Given the description of an element on the screen output the (x, y) to click on. 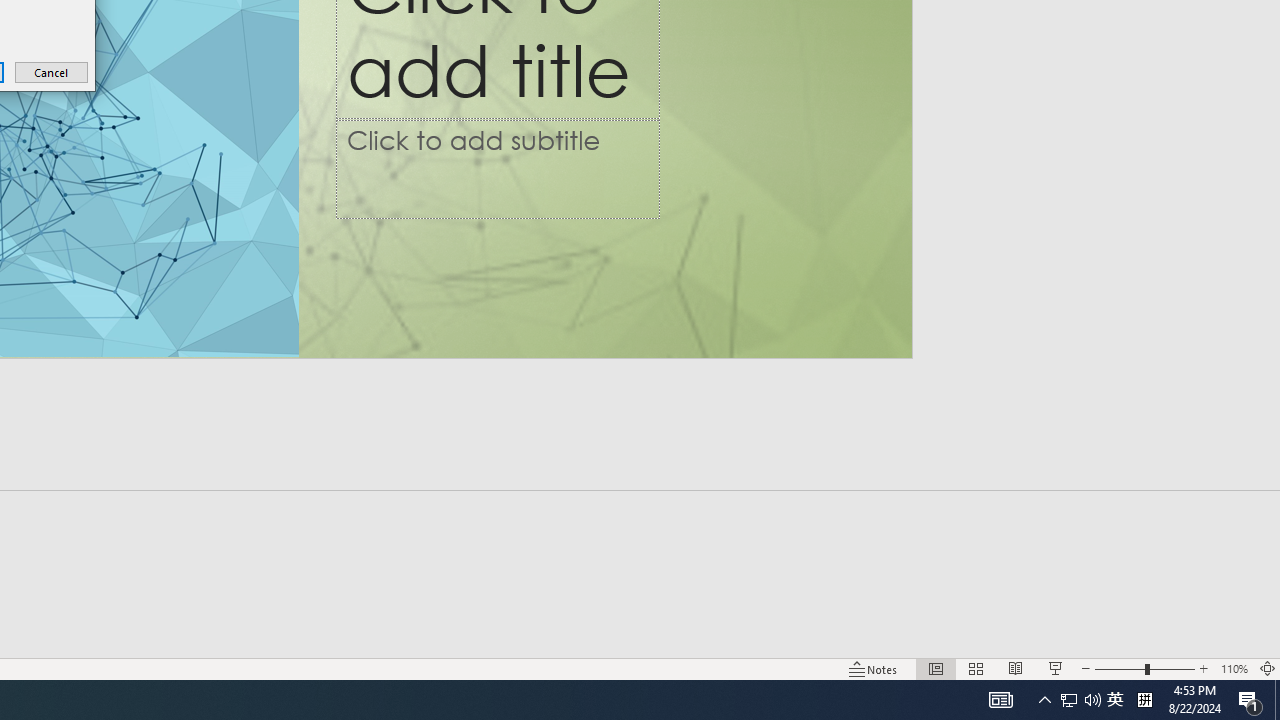
Zoom 110% (1234, 668)
Cancel (51, 72)
